Given the description of an element on the screen output the (x, y) to click on. 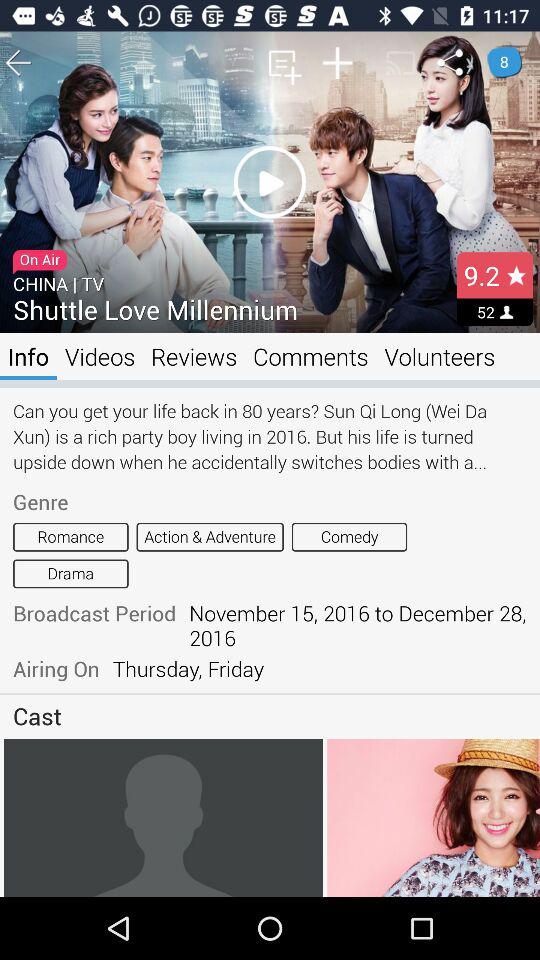
jump to the action & adventure item (209, 536)
